Given the description of an element on the screen output the (x, y) to click on. 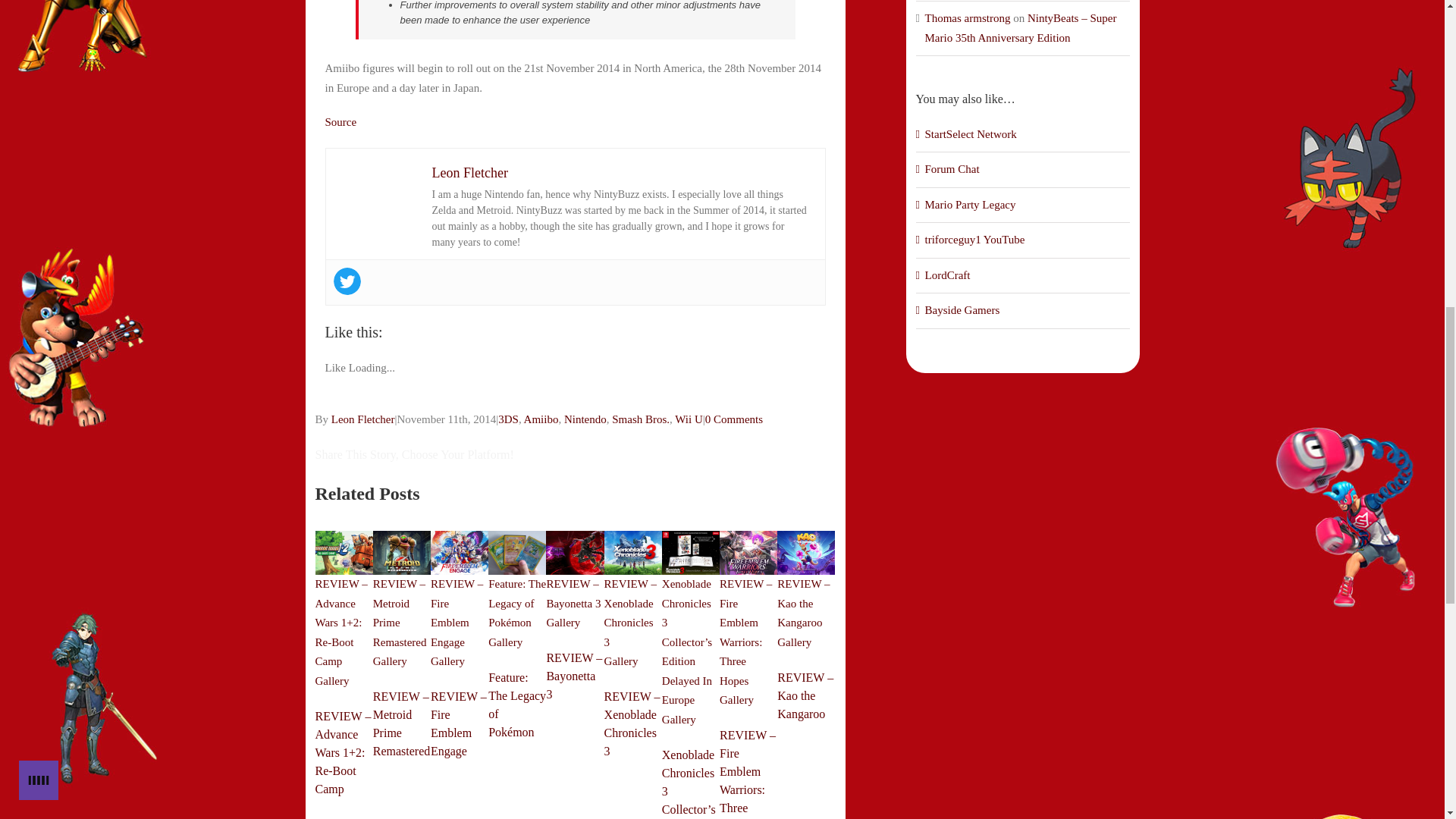
Leon Fletcher (470, 172)
Leon Fletcher (362, 419)
Source (340, 121)
Twitter (347, 280)
Posts by Leon Fletcher (362, 419)
